Given the description of an element on the screen output the (x, y) to click on. 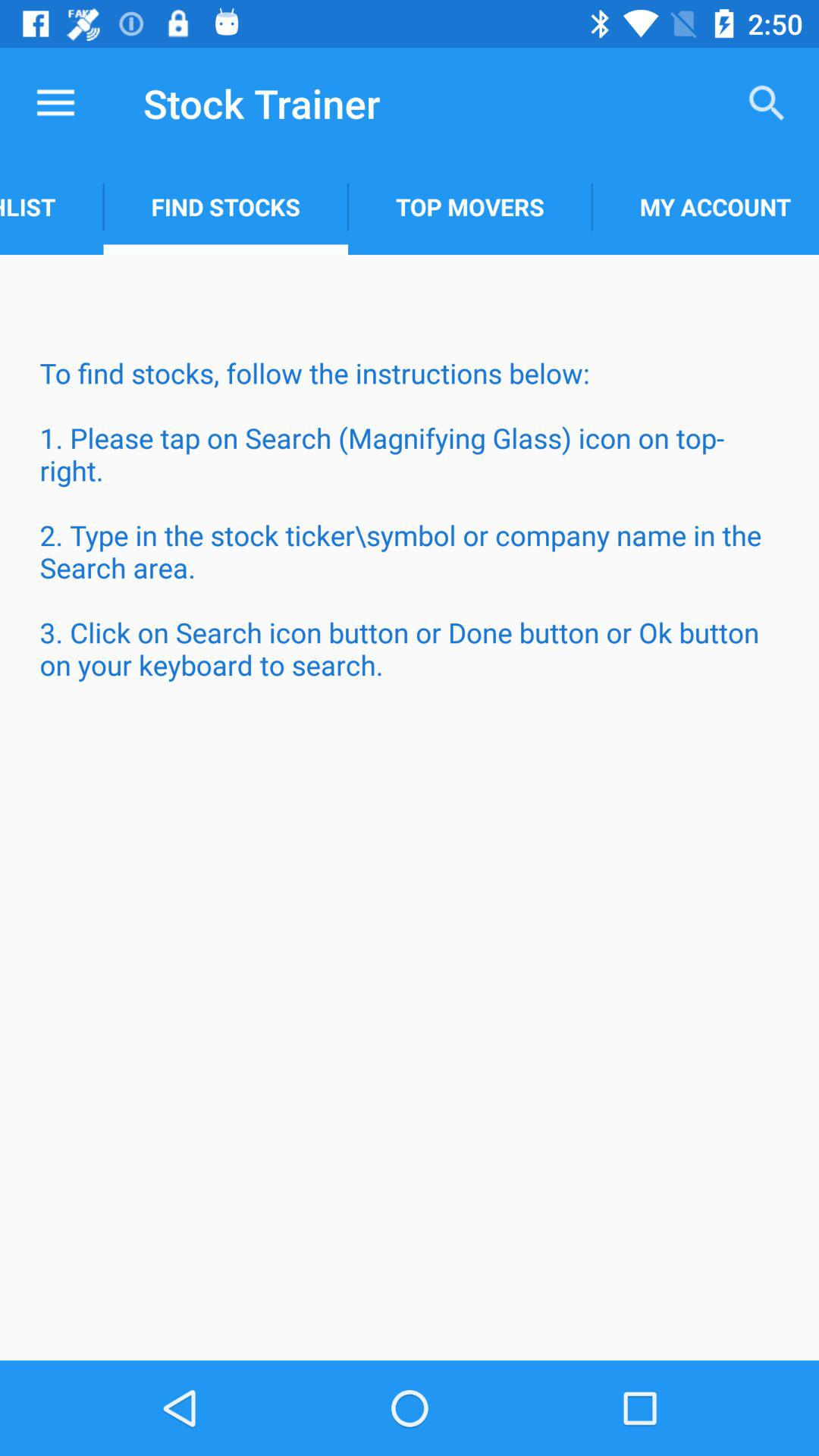
select the item to the left of the stock trainer (55, 103)
